Given the description of an element on the screen output the (x, y) to click on. 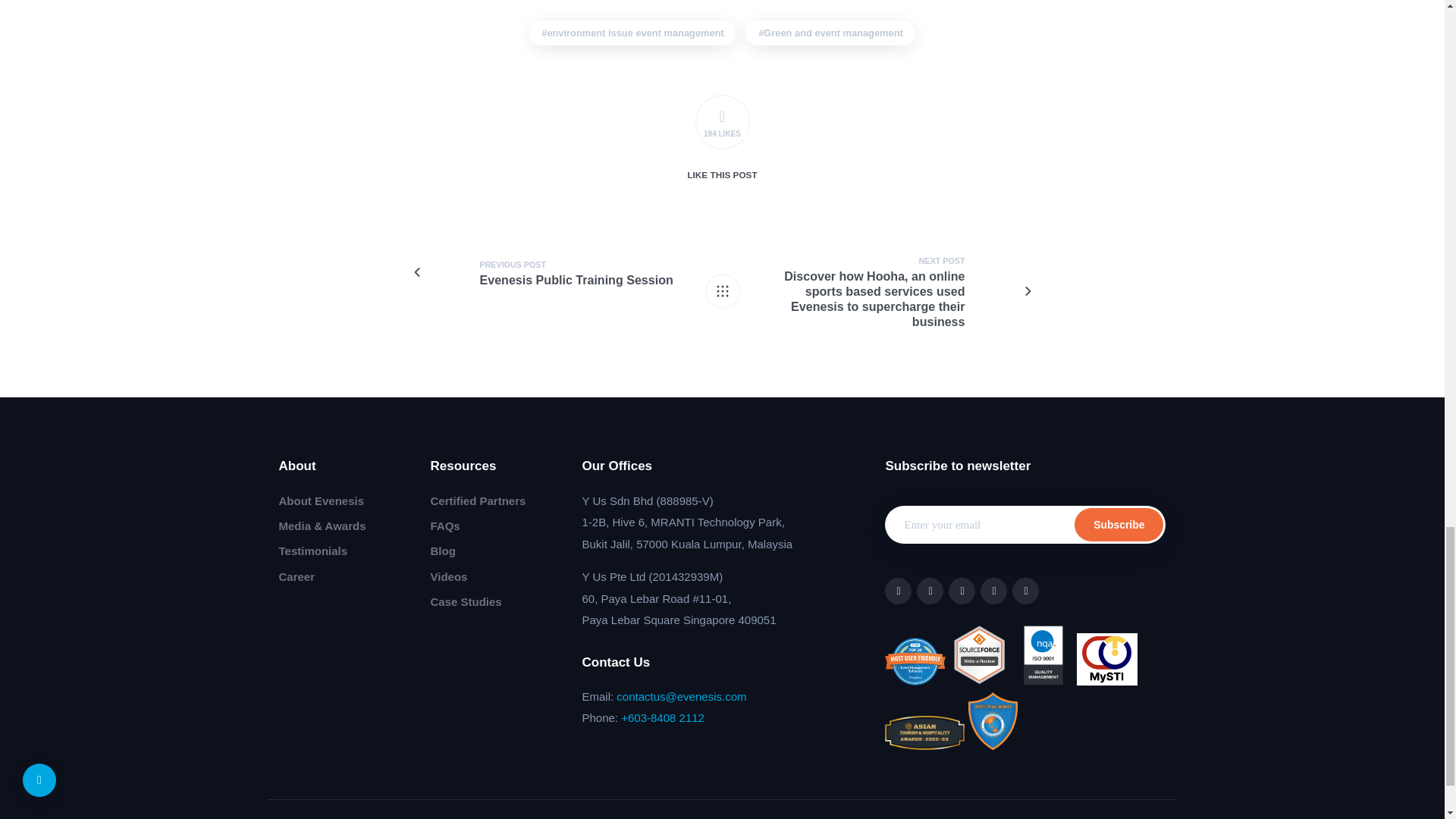
Back (721, 290)
Like (722, 121)
Subscribe (1118, 524)
